Given the description of an element on the screen output the (x, y) to click on. 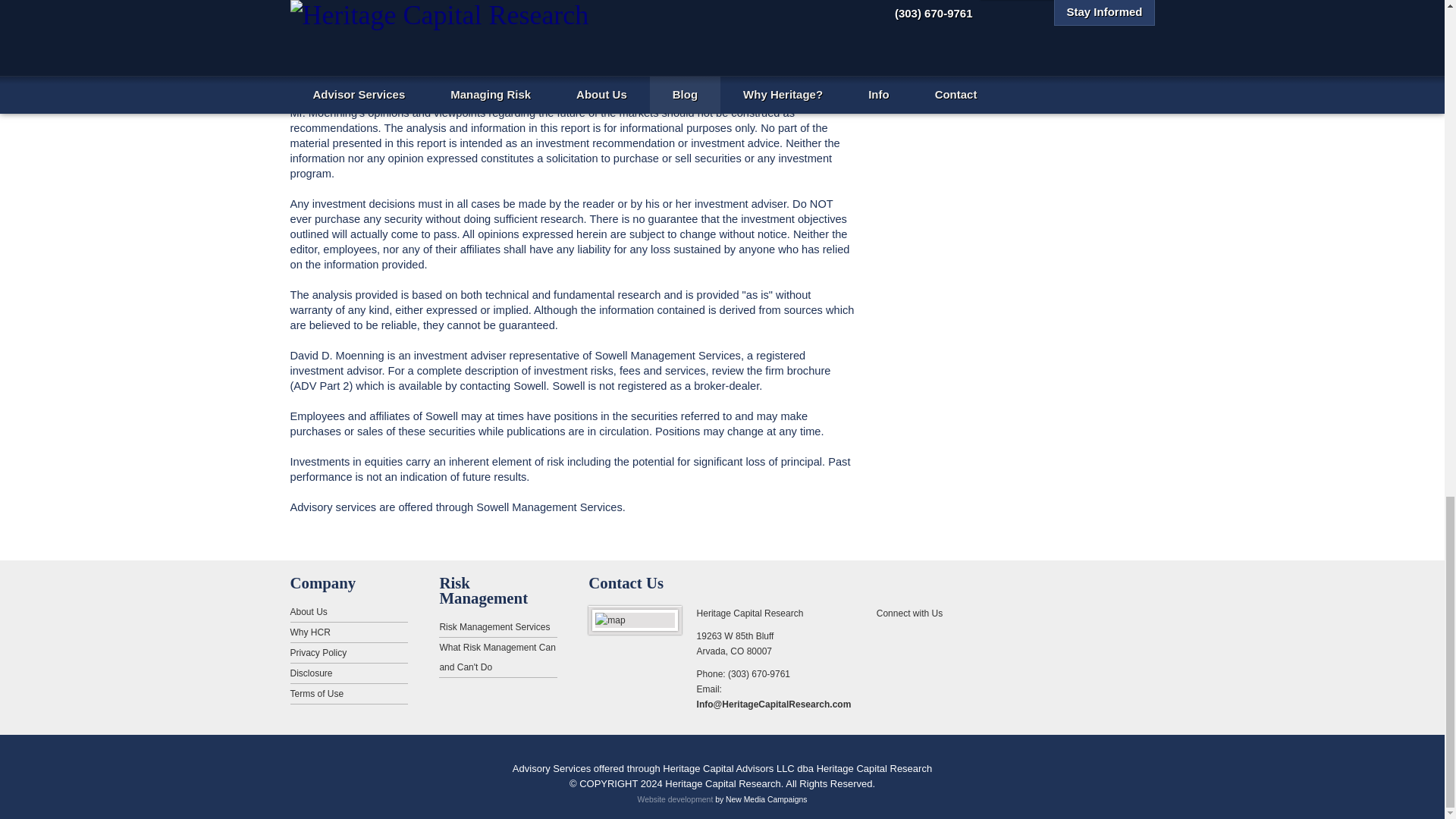
Terms of Use (348, 693)
About Us (348, 611)
Risk Management Services (497, 627)
Disclosure (348, 673)
RSS (888, 636)
What Risk Management Can and Can't Do (497, 658)
Privacy Policy (348, 652)
Website development (675, 799)
Why HCR (348, 632)
